Given the description of an element on the screen output the (x, y) to click on. 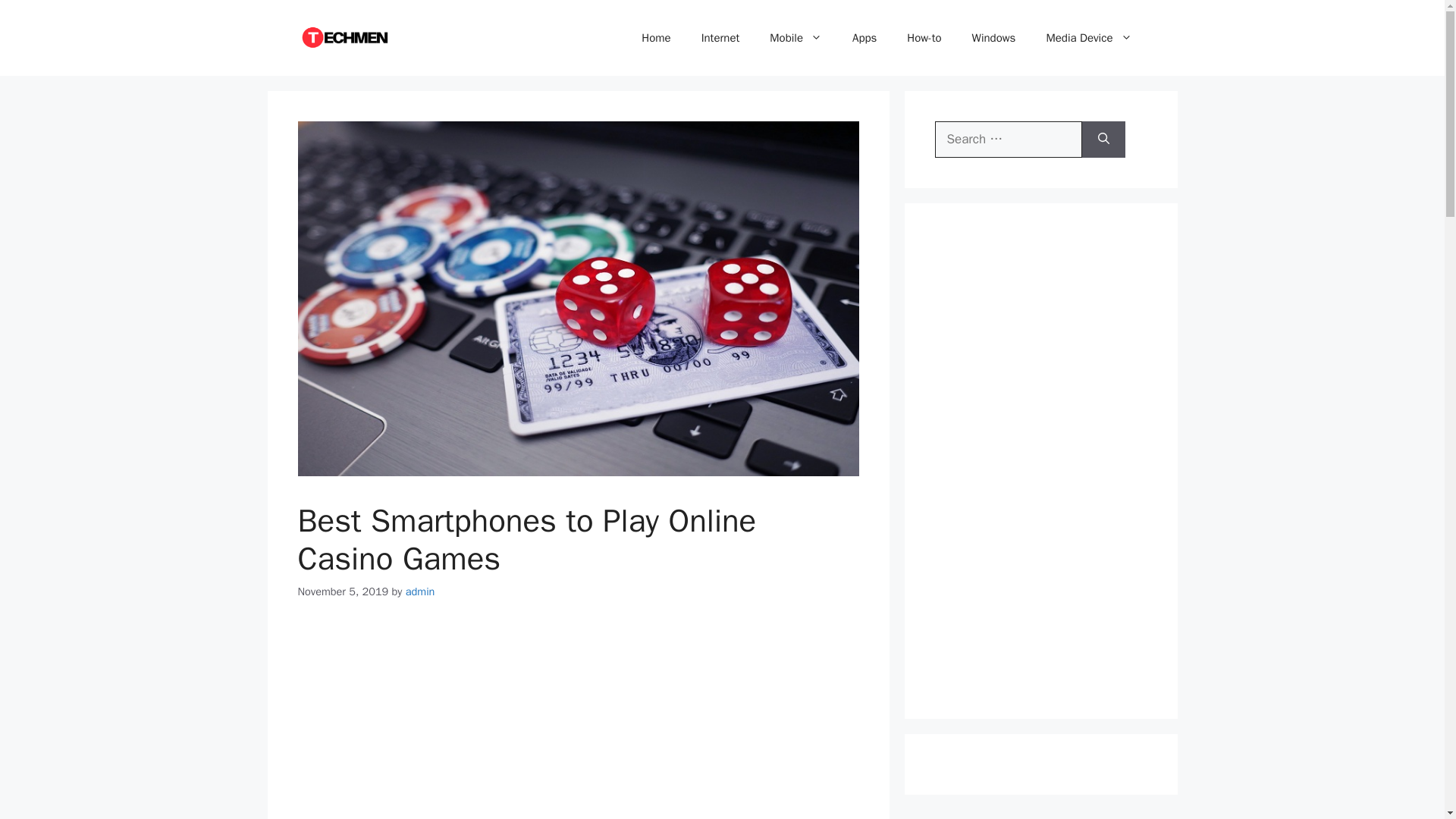
Apps (864, 37)
Advertisement (578, 722)
Windows (993, 37)
admin (420, 591)
Search for: (1007, 139)
How-to (923, 37)
Home (655, 37)
Media Device (1088, 37)
Internet (720, 37)
Mobile (795, 37)
View all posts by admin (420, 591)
